Given the description of an element on the screen output the (x, y) to click on. 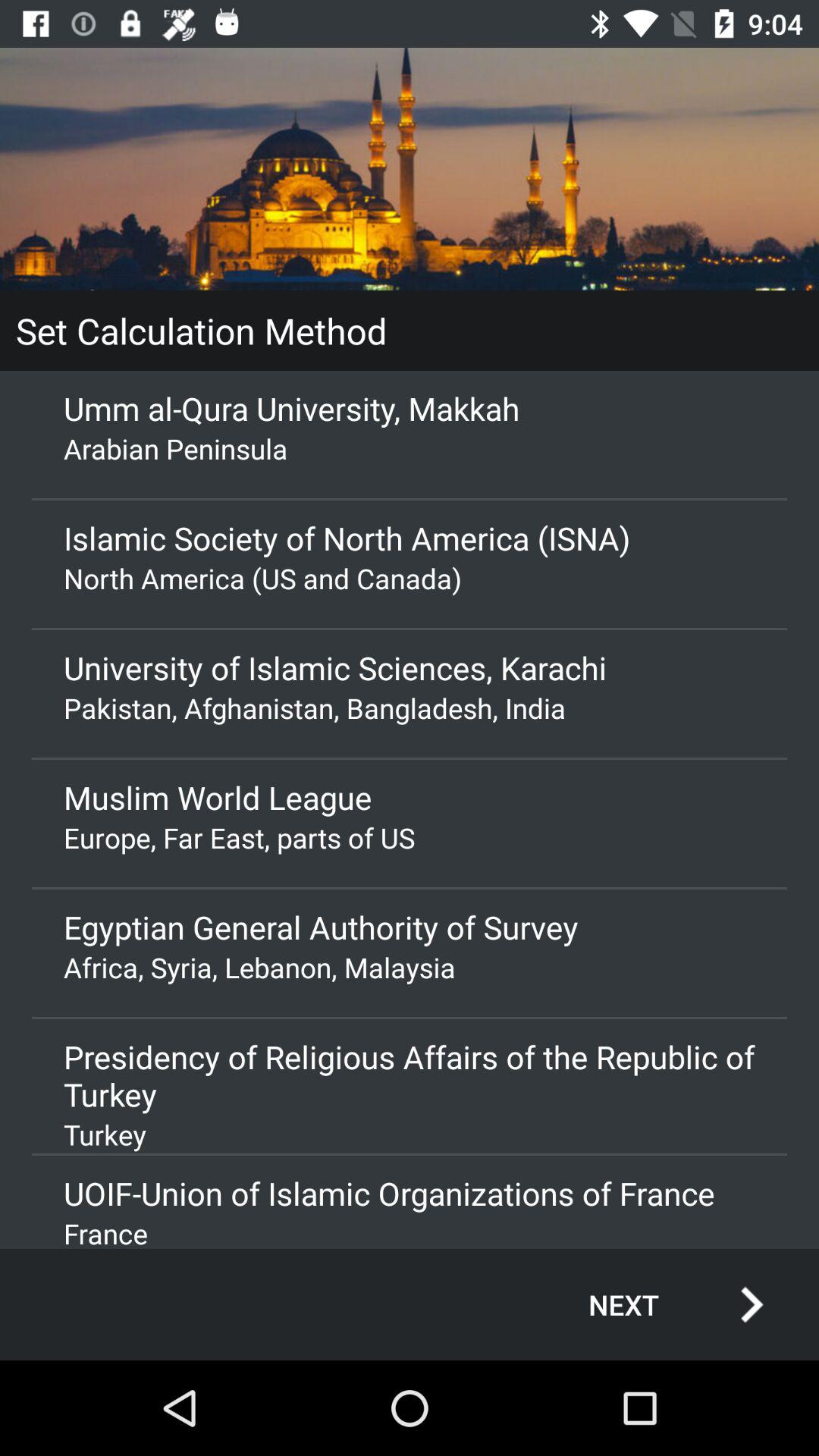
choose app above the islamic society of icon (409, 448)
